Given the description of an element on the screen output the (x, y) to click on. 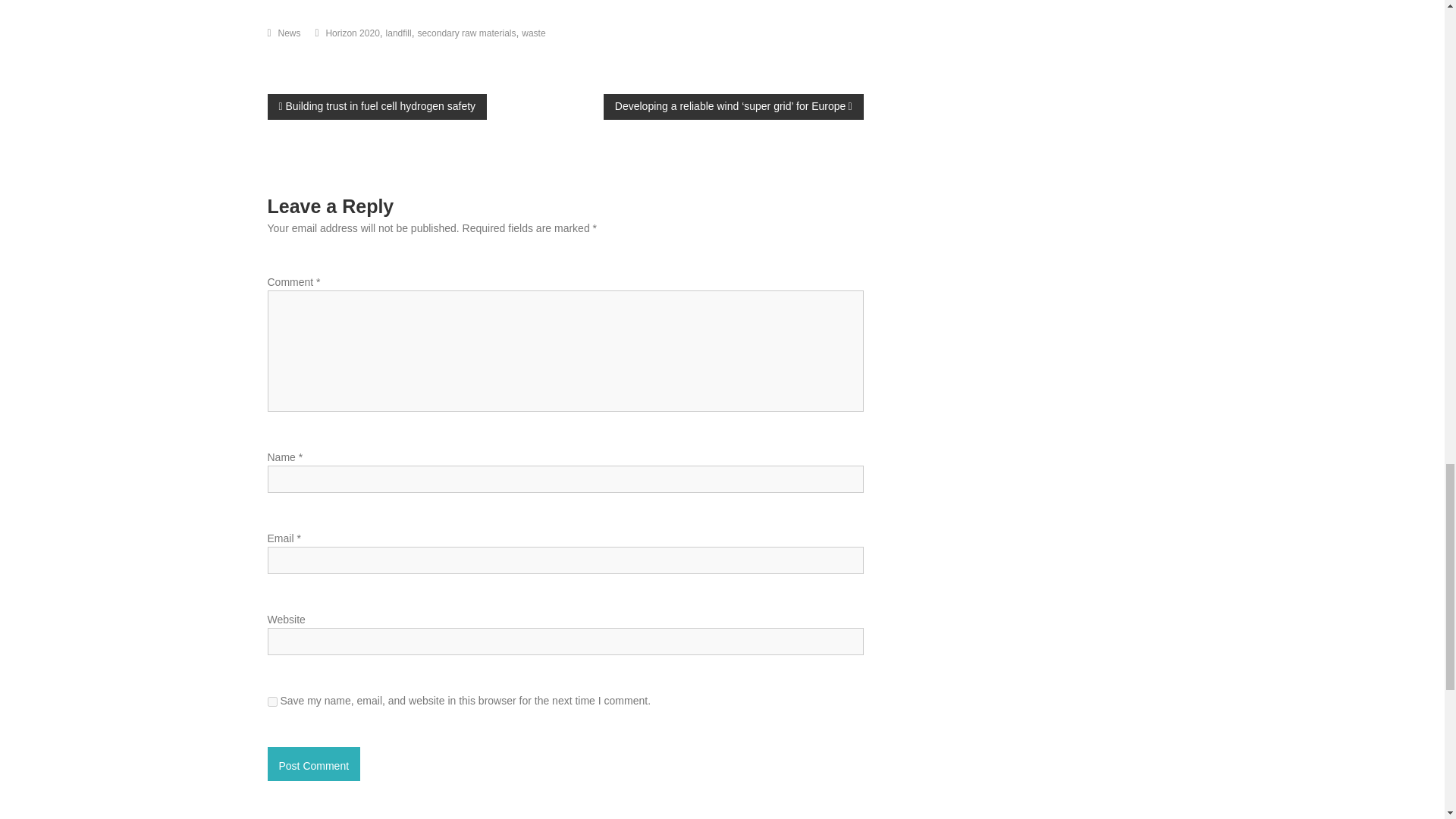
Post Comment (312, 763)
secondary raw materials (465, 32)
Horizon 2020 (351, 32)
Post Comment (312, 763)
Building trust in fuel cell hydrogen safety (376, 106)
yes (271, 701)
waste (532, 32)
landfill (398, 32)
News (289, 32)
